Given the description of an element on the screen output the (x, y) to click on. 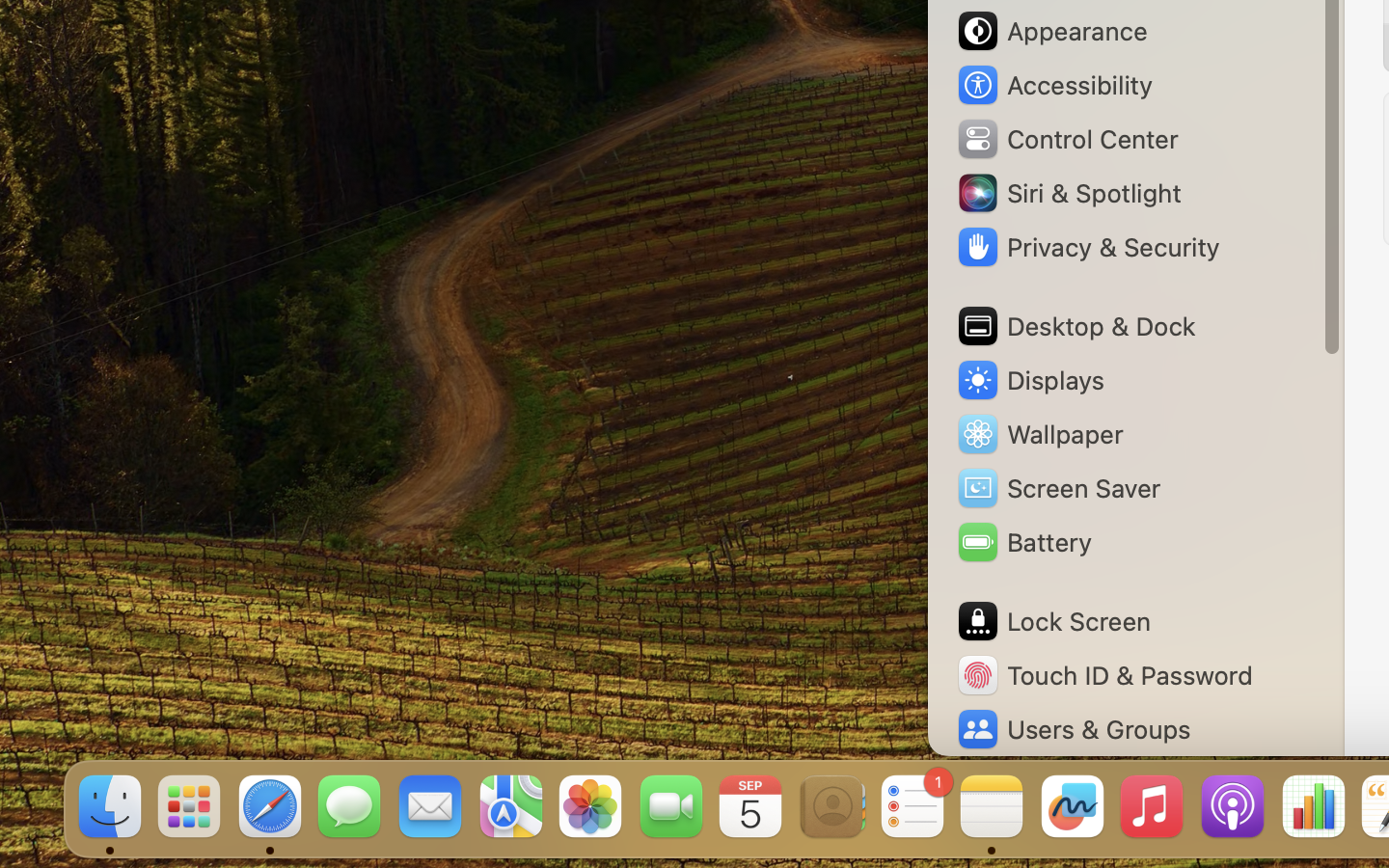
Battery Element type: AXStaticText (1022, 541)
Appearance Element type: AXStaticText (1050, 30)
Lock Screen Element type: AXStaticText (1052, 620)
Users & Groups Element type: AXStaticText (1072, 728)
Screen Saver Element type: AXStaticText (1057, 487)
